Given the description of an element on the screen output the (x, y) to click on. 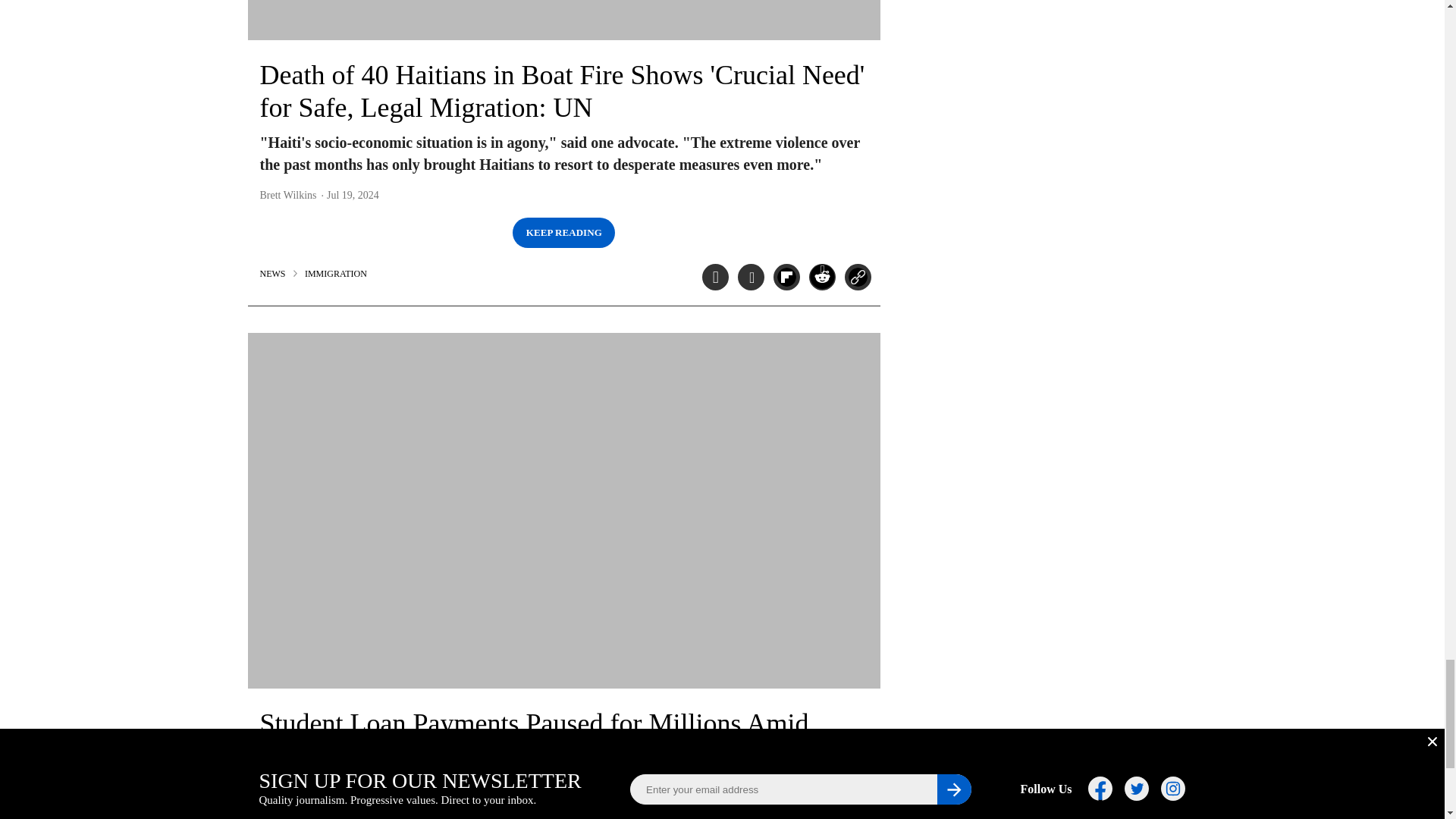
Copy this link to clipboard (857, 276)
